Given the description of an element on the screen output the (x, y) to click on. 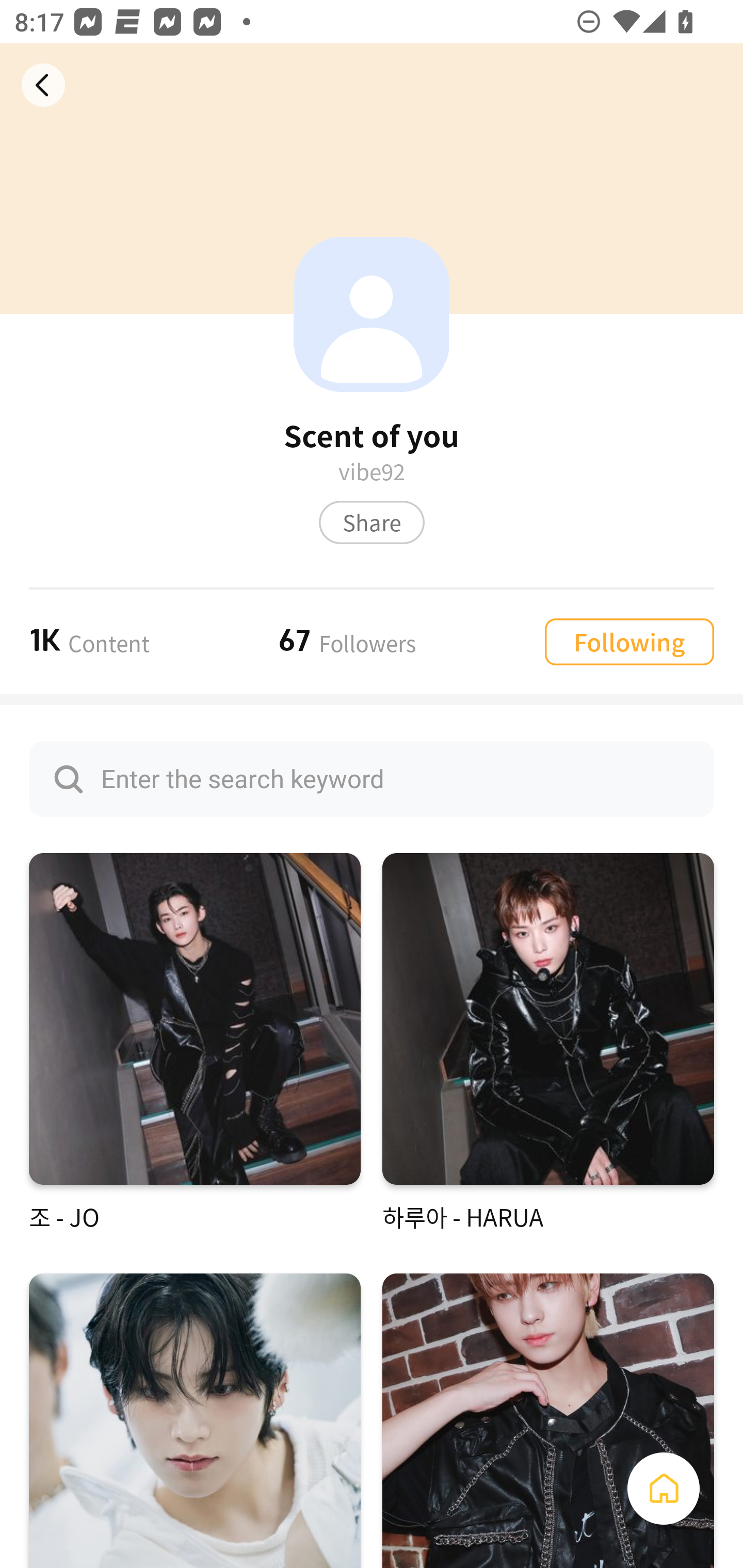
Share (371, 522)
Following (629, 640)
Enter the search keyword (371, 778)
조  -  JO (194, 1043)
하루아  -  HARUA (548, 1043)
